Given the description of an element on the screen output the (x, y) to click on. 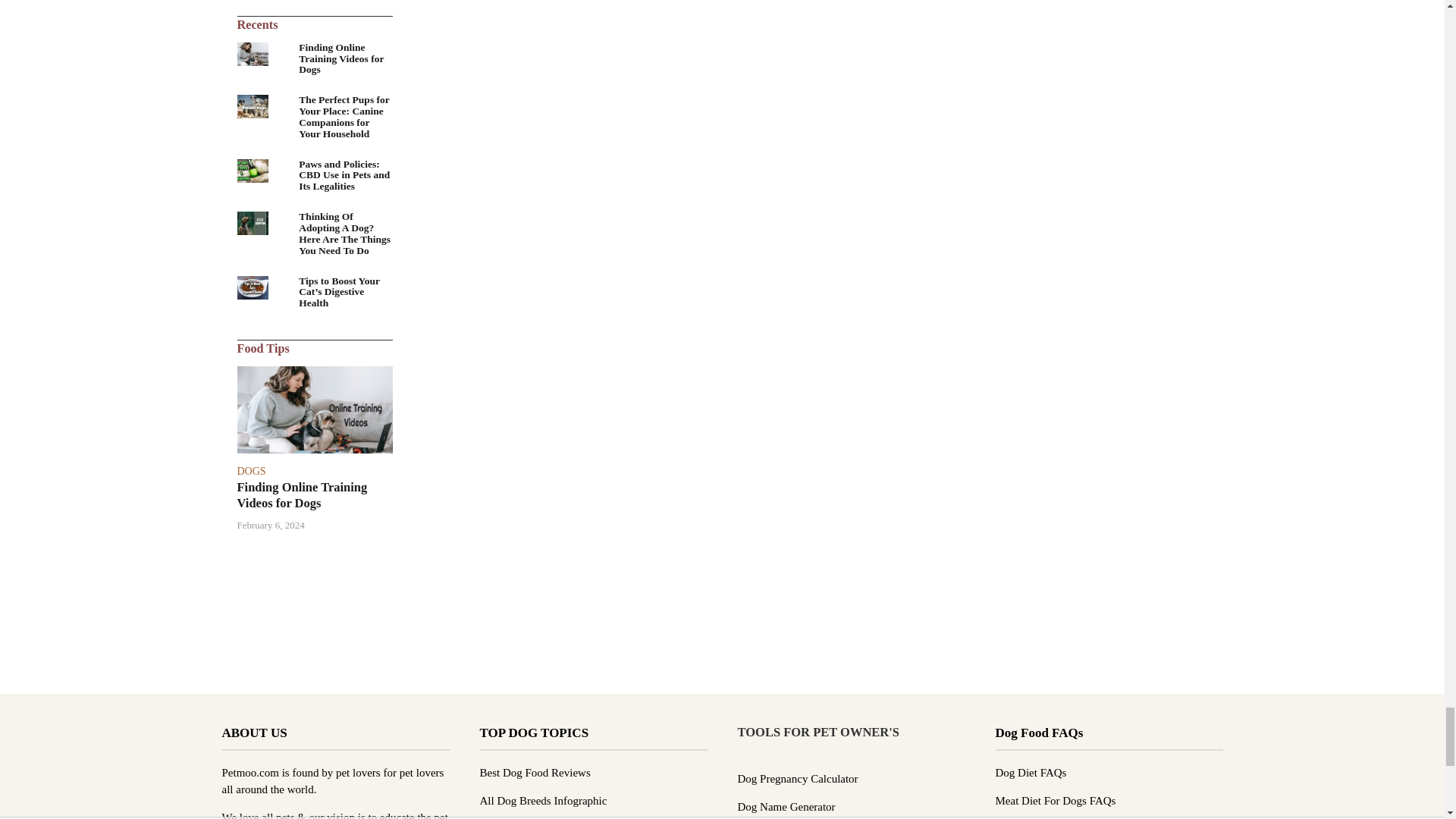
Finding Online Training Videos for Dogs (251, 52)
Finding Online Training Videos for Dogs (313, 408)
Paws and Policies: CBD Use in Pets and Its Legalities (251, 169)
